Given the description of an element on the screen output the (x, y) to click on. 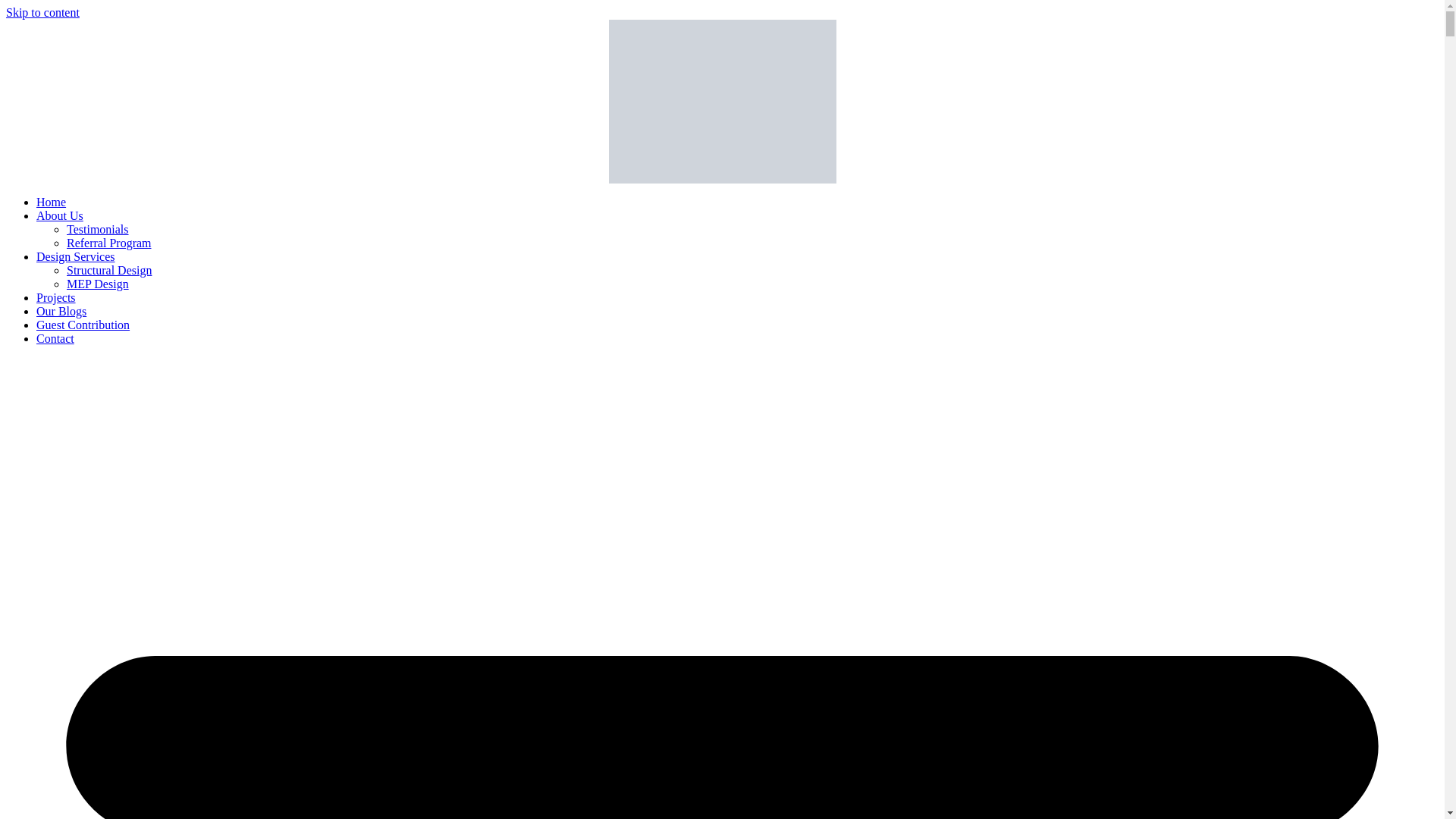
MEP Design (97, 283)
Guest Contribution (82, 324)
Referral Program (108, 242)
Home (50, 201)
Design Services (75, 256)
Structural Design (108, 269)
Projects (55, 297)
About Us (59, 215)
Contact (55, 338)
Testimonials (97, 228)
